Given the description of an element on the screen output the (x, y) to click on. 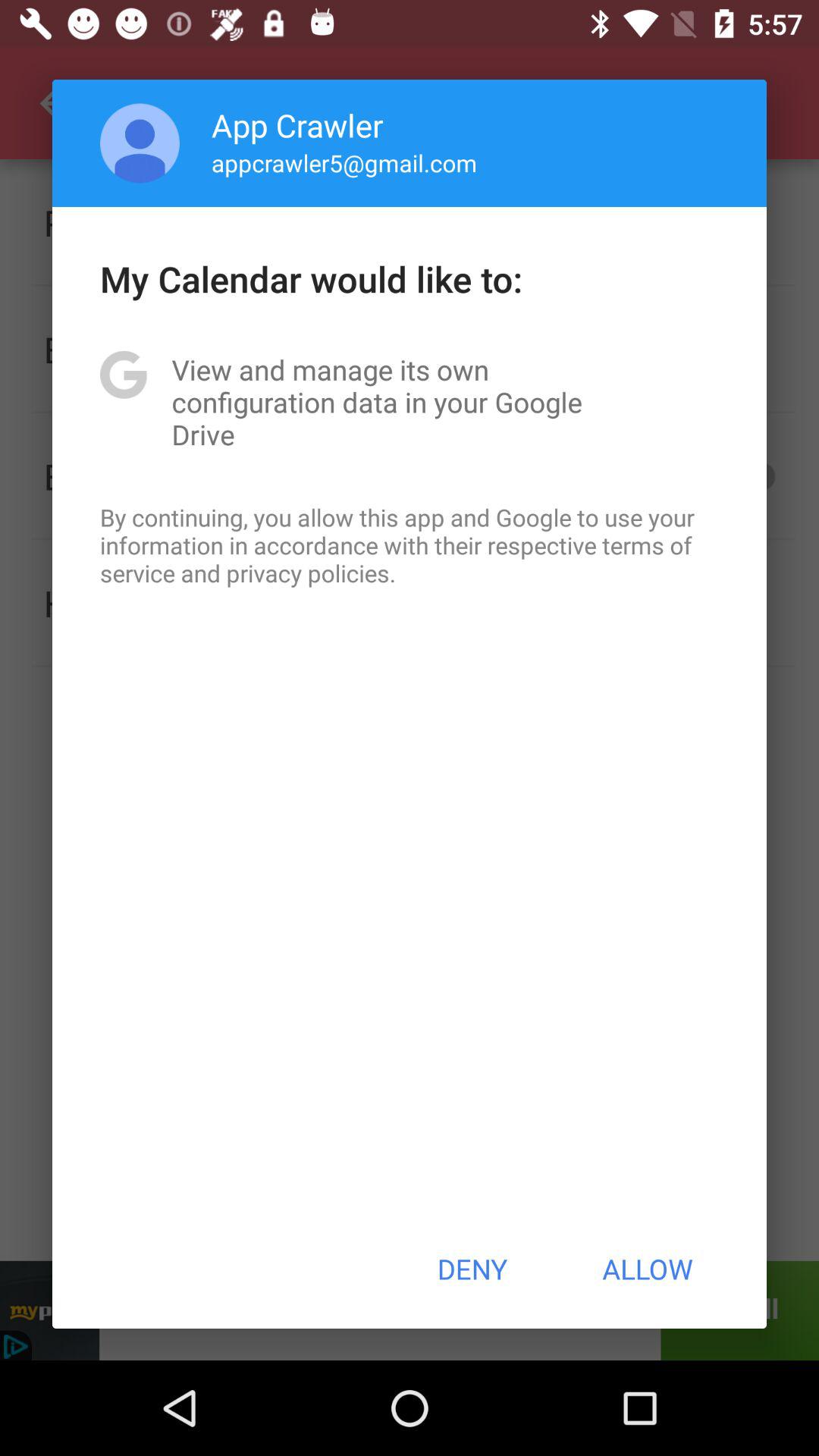
turn on app below the by continuing you icon (471, 1268)
